Given the description of an element on the screen output the (x, y) to click on. 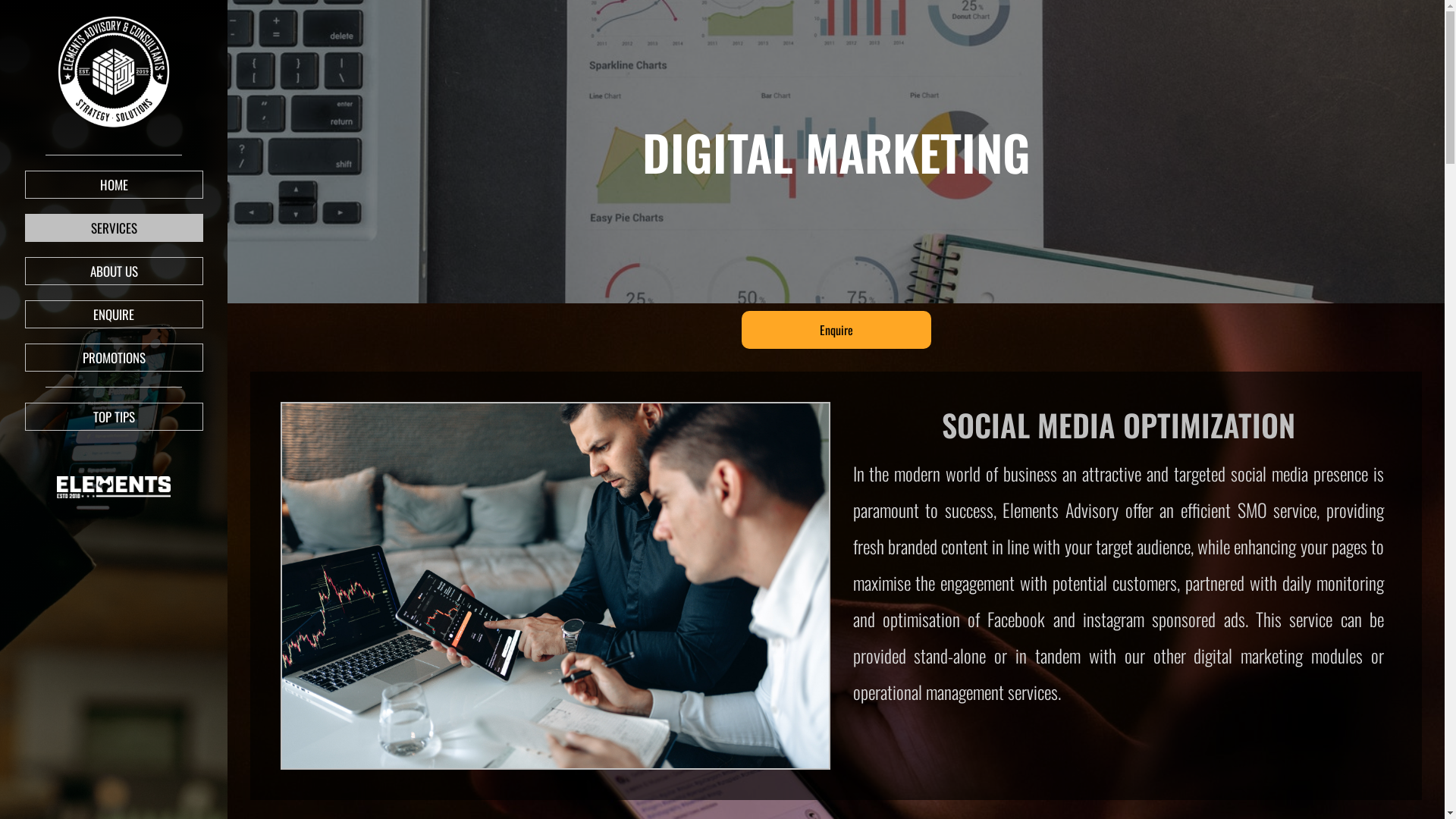
TOP TIPS Element type: text (113, 416)
